Given the description of an element on the screen output the (x, y) to click on. 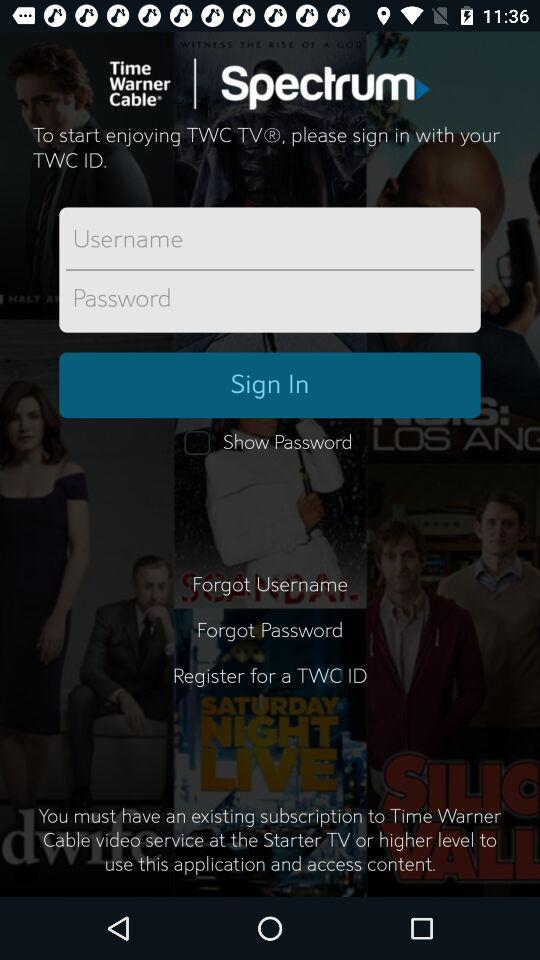
enter username (270, 240)
